Given the description of an element on the screen output the (x, y) to click on. 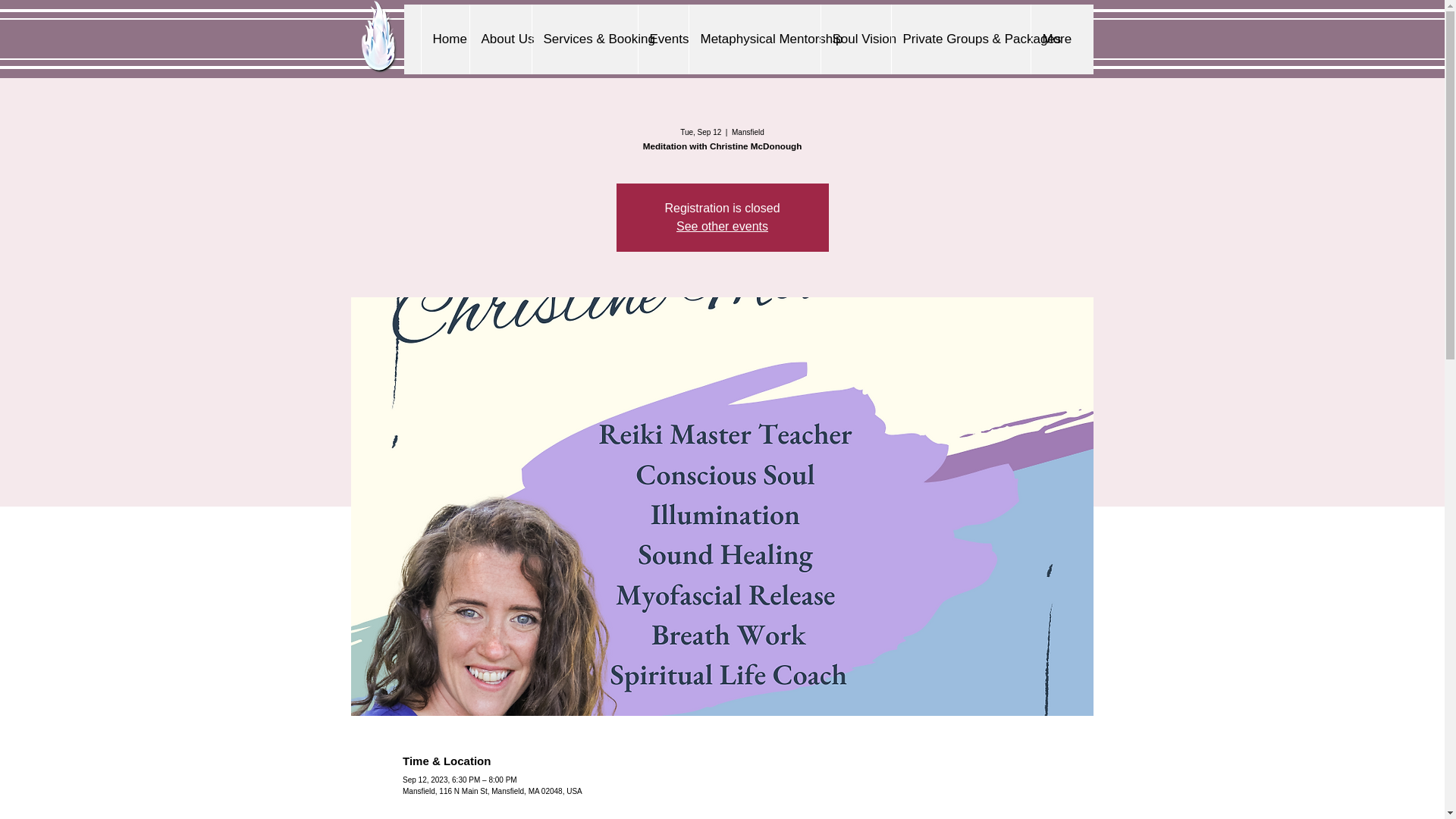
Soul Vision (856, 39)
Metaphysical Mentorship (754, 39)
See other events (722, 226)
About Us (499, 39)
